Given the description of an element on the screen output the (x, y) to click on. 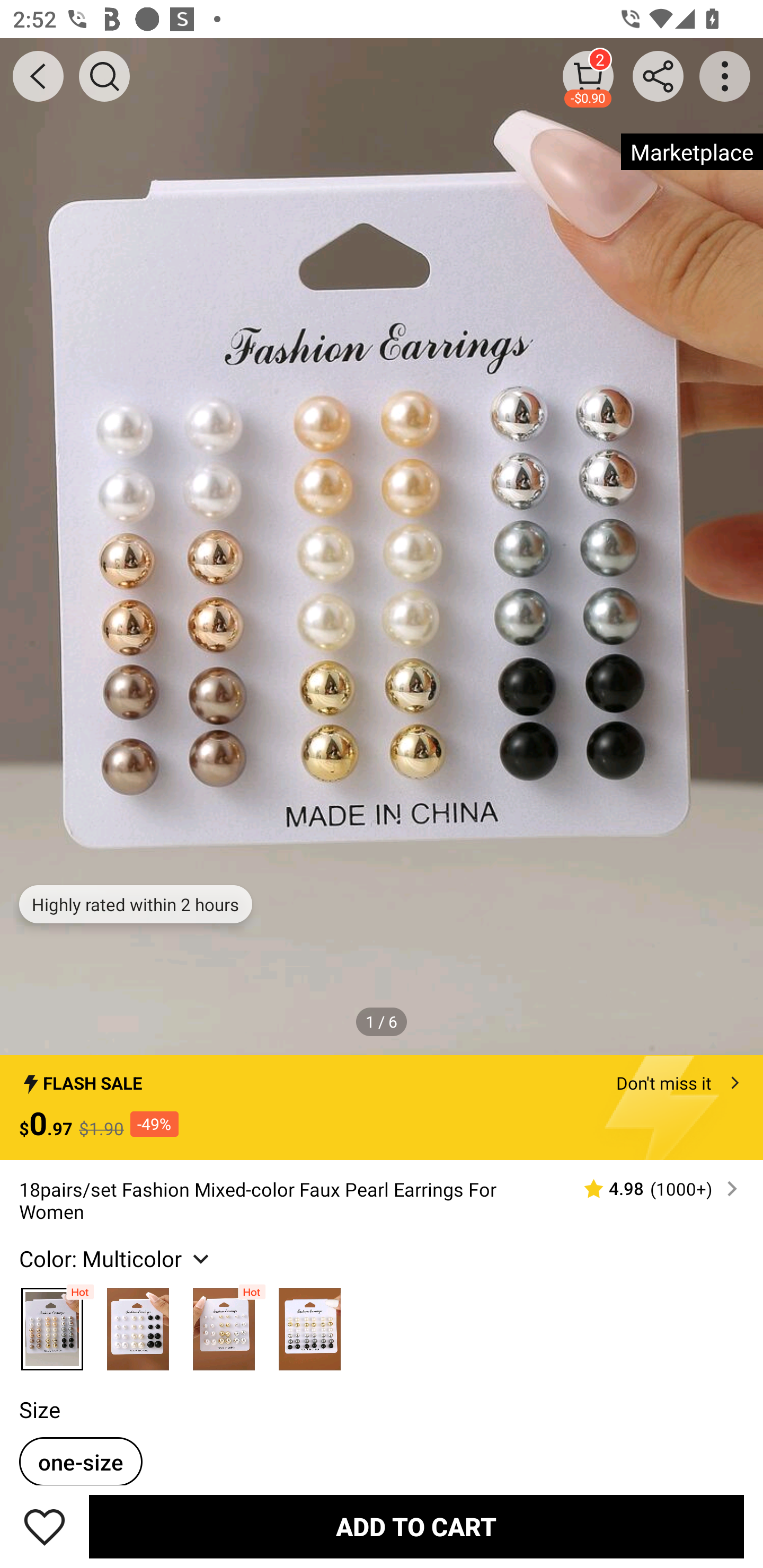
BACK (38, 75)
2 -$0.90 (588, 75)
1 / 6 (381, 1021)
FLASH SALE Don't miss it $0.97 $1.90 -49% (381, 1107)
FLASH SALE Don't miss it (381, 1077)
4.98 (1000‎+) (653, 1188)
Color: Multicolor (116, 1258)
Multicolor (52, 1324)
Multicolor (138, 1324)
Multicolor (224, 1324)
Multicolor (309, 1324)
Size (39, 1408)
one-size one-sizeselected option (80, 1460)
ADD TO CART (416, 1526)
Save (44, 1526)
